Given the description of an element on the screen output the (x, y) to click on. 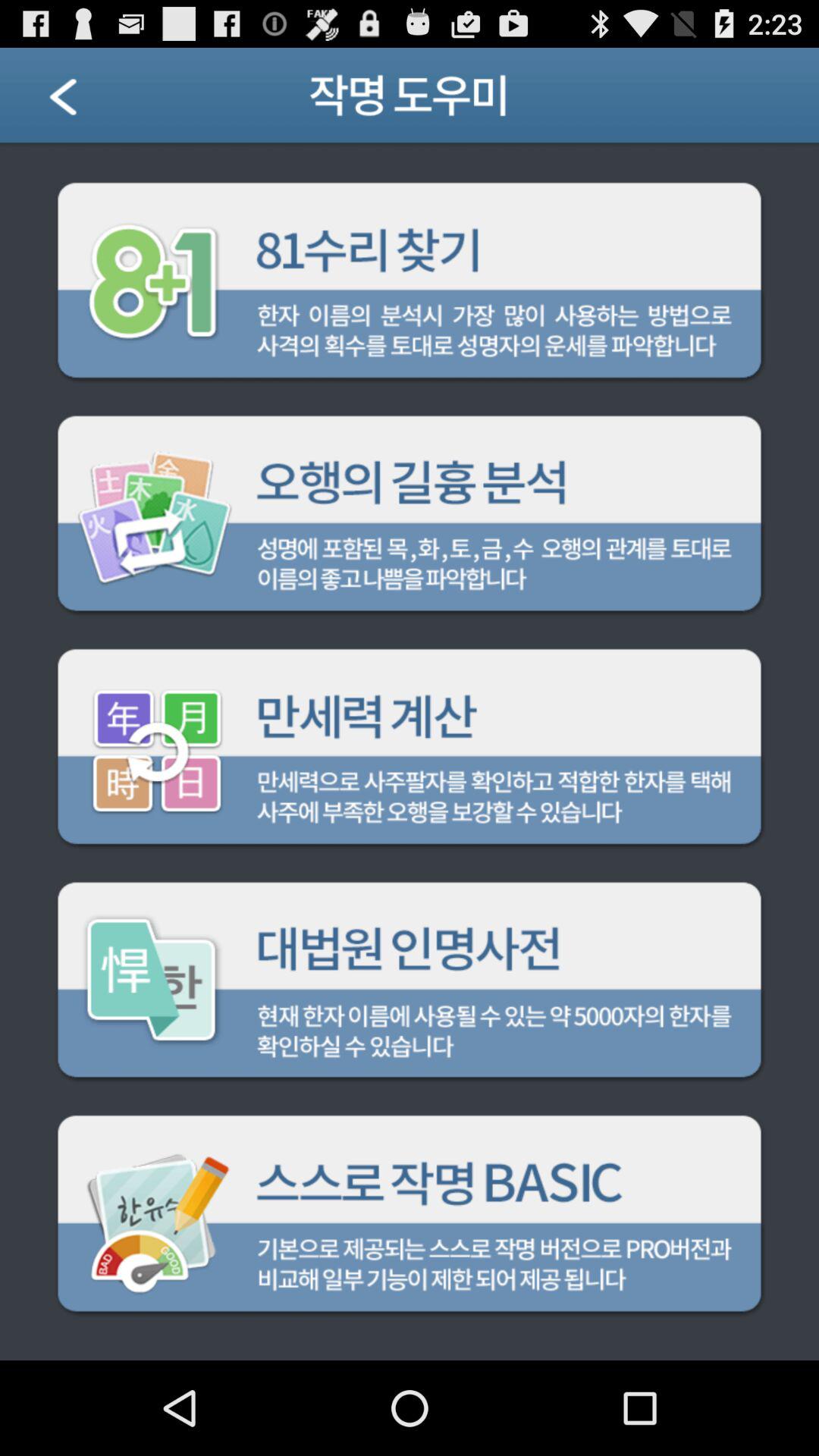
go back (81, 101)
